Given the description of an element on the screen output the (x, y) to click on. 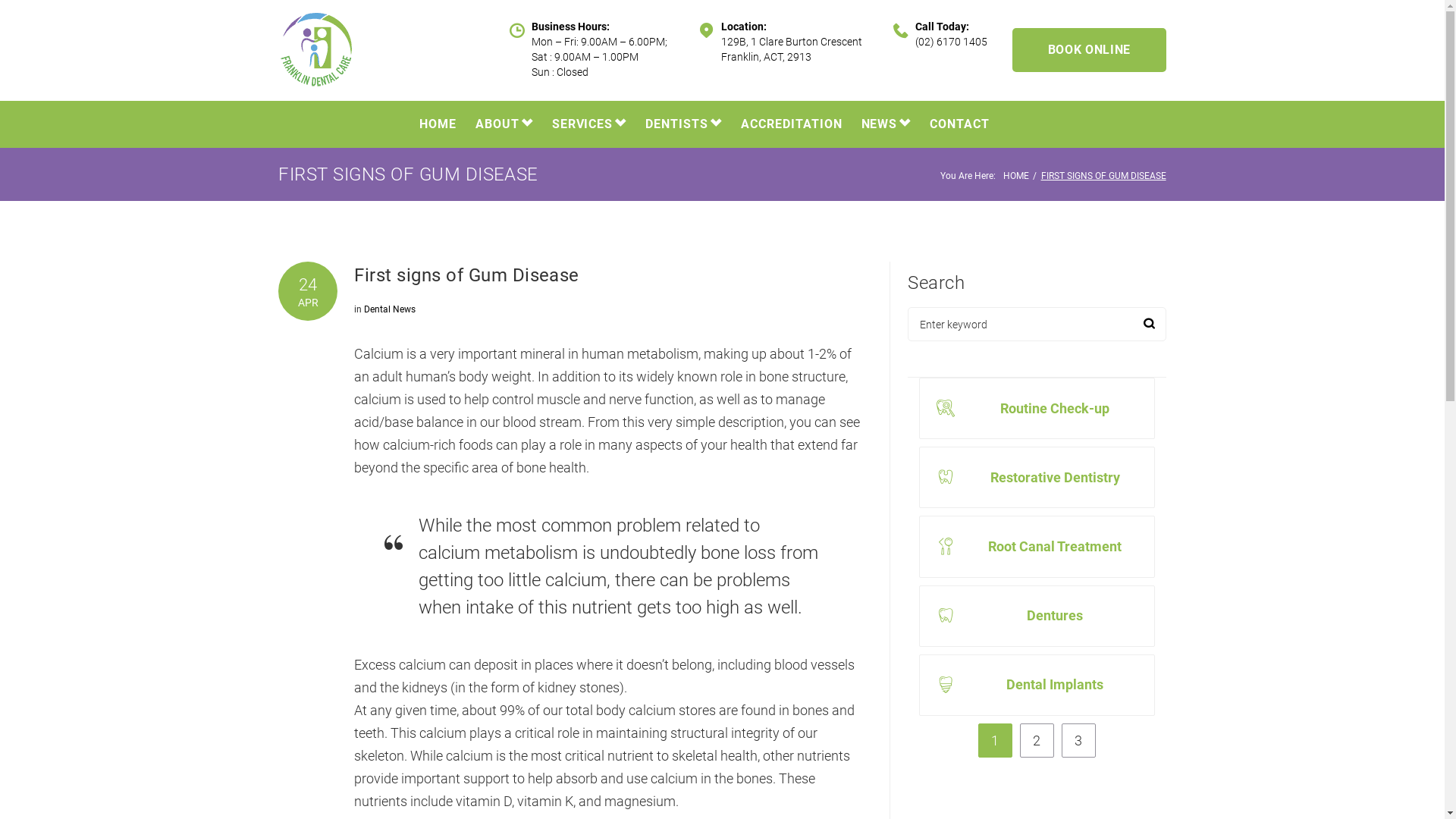
DENTISTS Element type: text (683, 124)
SEARCH Element type: text (1149, 324)
ACCREDITATION Element type: text (790, 124)
(02) 6170 1405 Element type: text (951, 41)
3 Element type: text (1078, 740)
Dental Implants Element type: text (1054, 684)
24
APR Element type: text (307, 290)
SERVICES Element type: text (589, 124)
2 Element type: text (1036, 740)
NEWS Element type: text (886, 124)
HOME Element type: text (437, 124)
BOOK ONLINE Element type: text (1089, 50)
Restorative Dentistry Element type: text (1055, 477)
ABOUT Element type: text (504, 124)
Dentures Element type: text (1054, 615)
CONTACT Element type: text (959, 124)
Root Canal Treatment Element type: text (1054, 546)
Routine Check-up Element type: text (1054, 408)
1 Element type: text (995, 740)
Dental News Element type: text (389, 309)
Search for: Element type: hover (1036, 324)
HOME Element type: text (1016, 175)
